Given the description of an element on the screen output the (x, y) to click on. 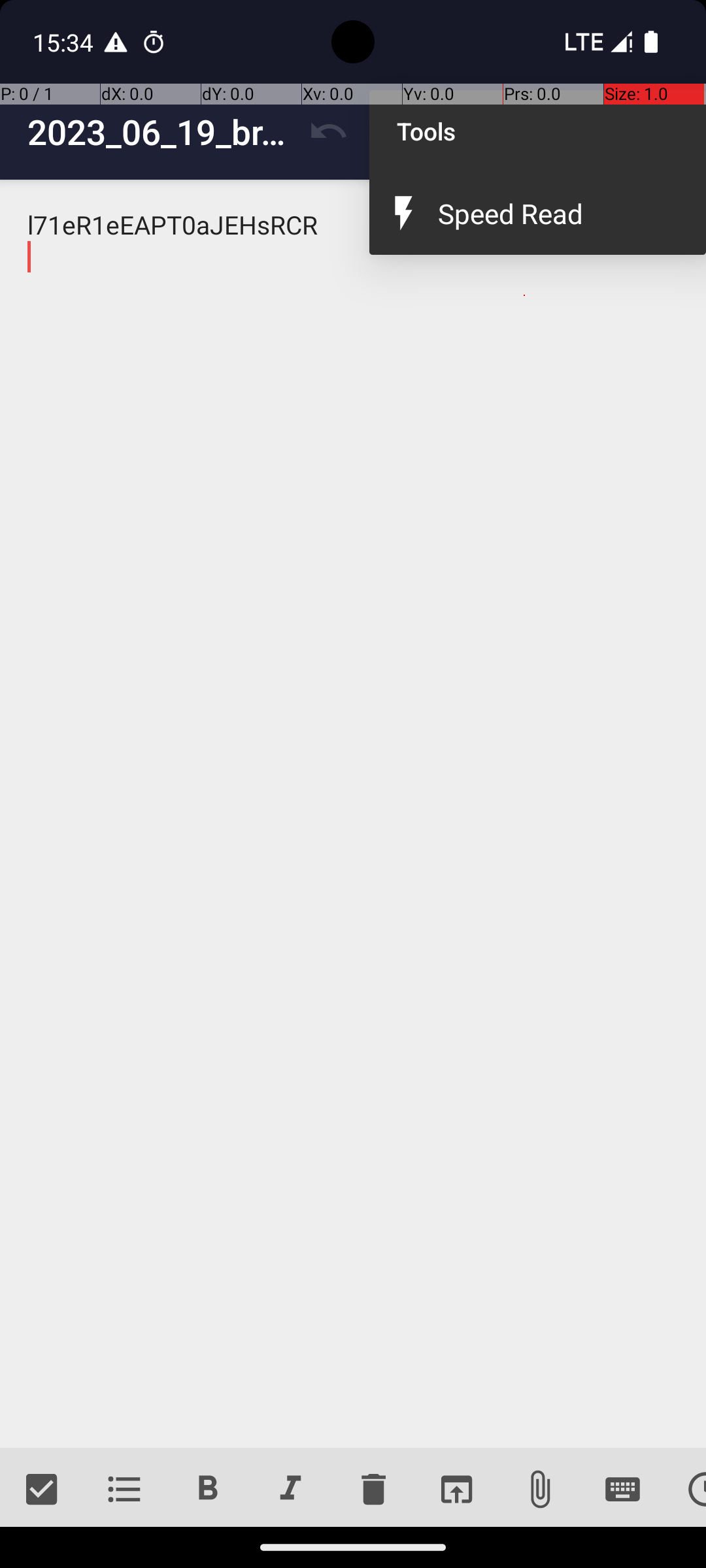
Tools Element type: android.widget.TextView (537, 130)
Speed Read Element type: android.widget.TextView (557, 212)
